Given the description of an element on the screen output the (x, y) to click on. 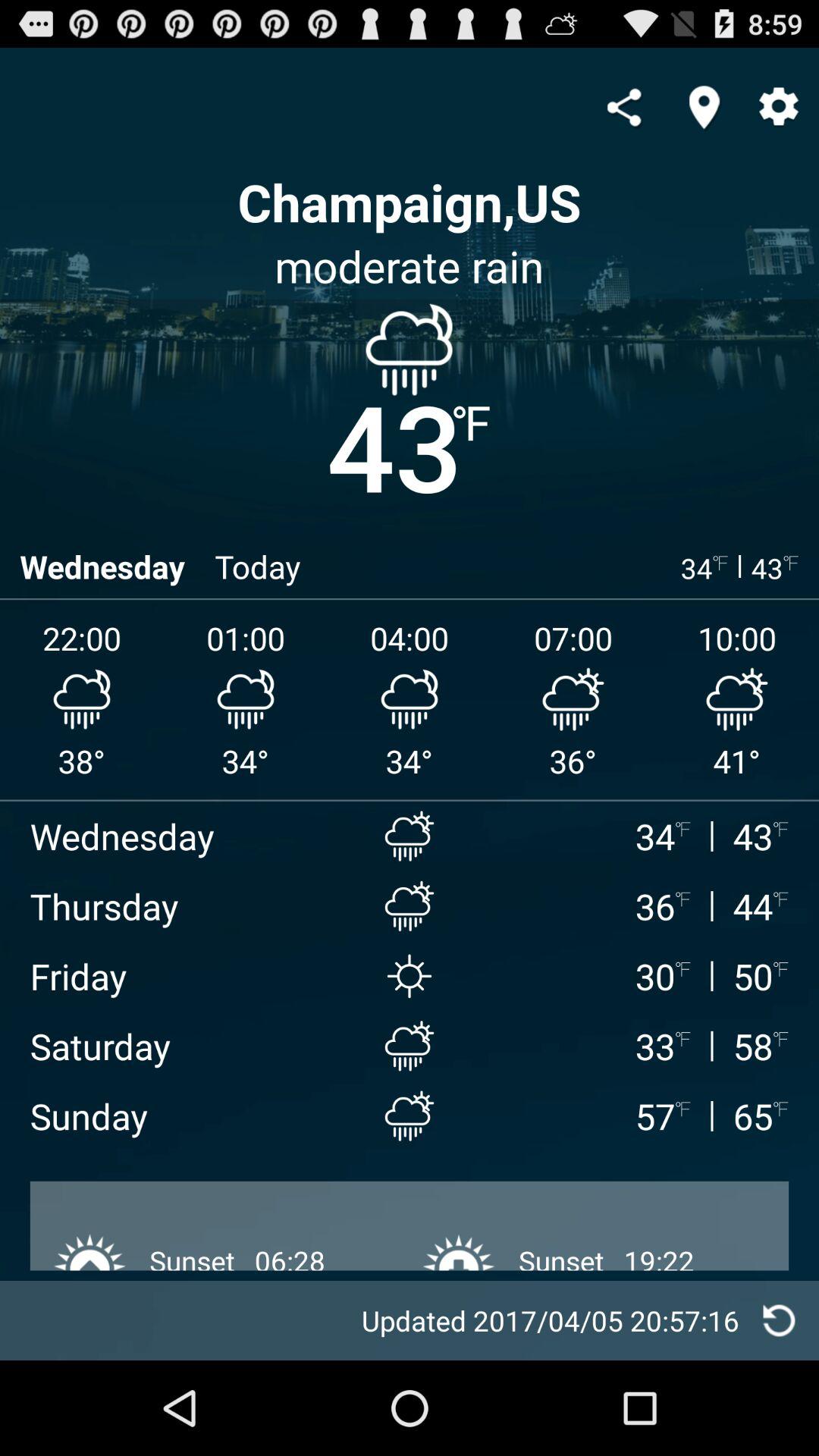
go to settings (779, 107)
